Given the description of an element on the screen output the (x, y) to click on. 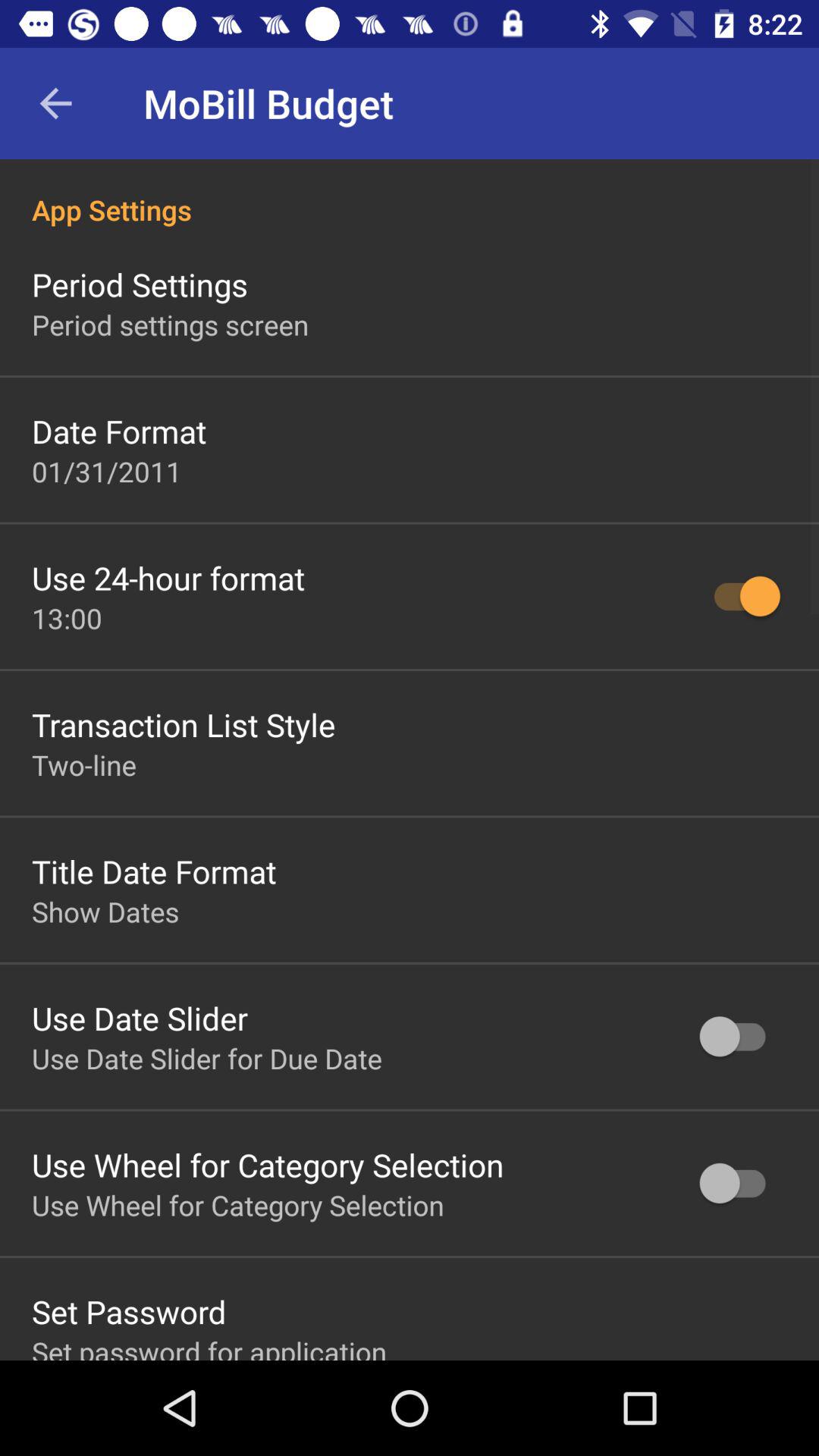
swipe to the 01/31/2011 icon (106, 471)
